Given the description of an element on the screen output the (x, y) to click on. 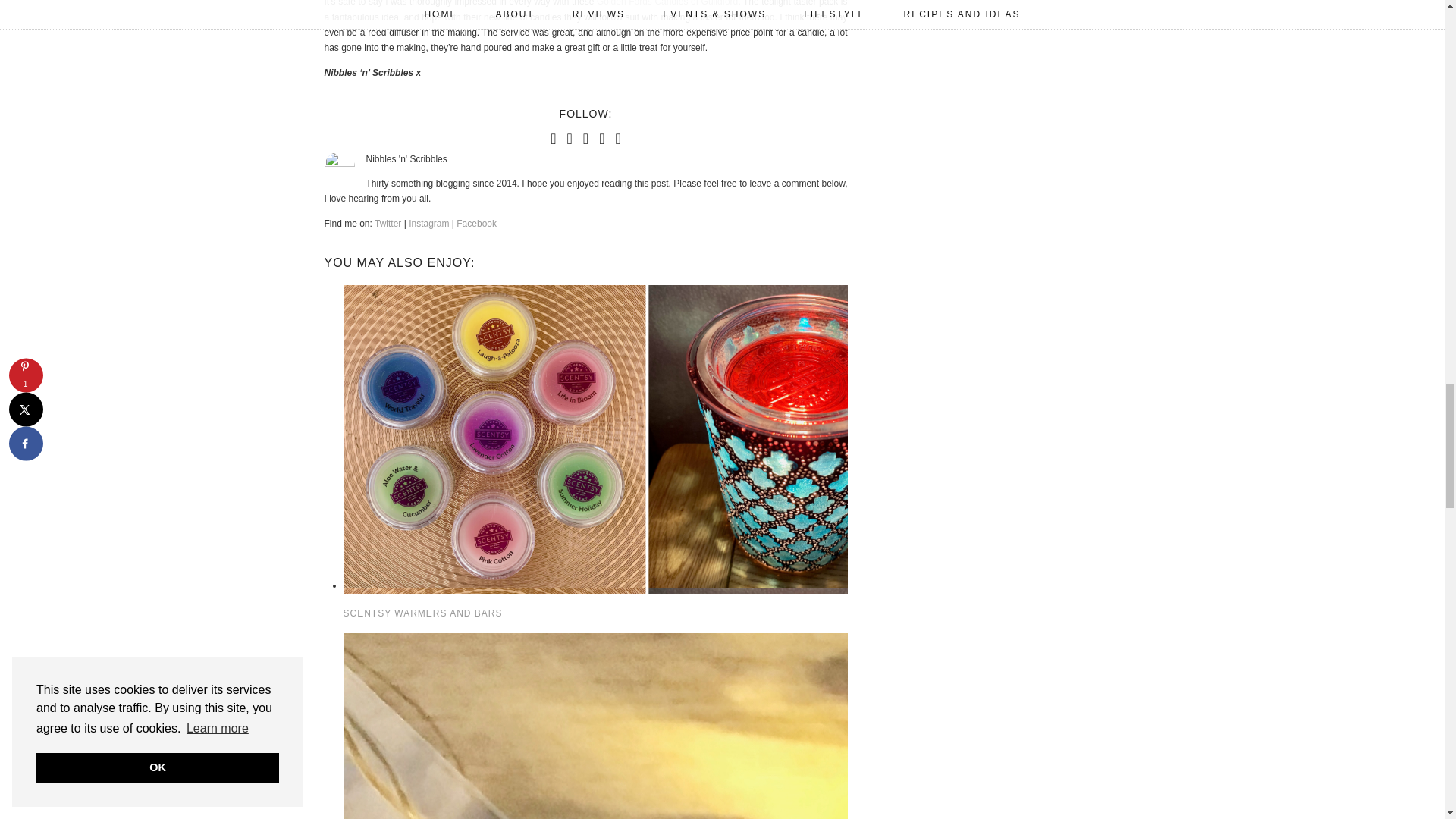
Twitter (553, 138)
Pinterest (585, 138)
Scentsy Warmers and Bars (569, 584)
Instagram (569, 138)
Scentsy Warmers and Bars (422, 613)
Facebook (601, 138)
Email (617, 138)
